Given the description of an element on the screen output the (x, y) to click on. 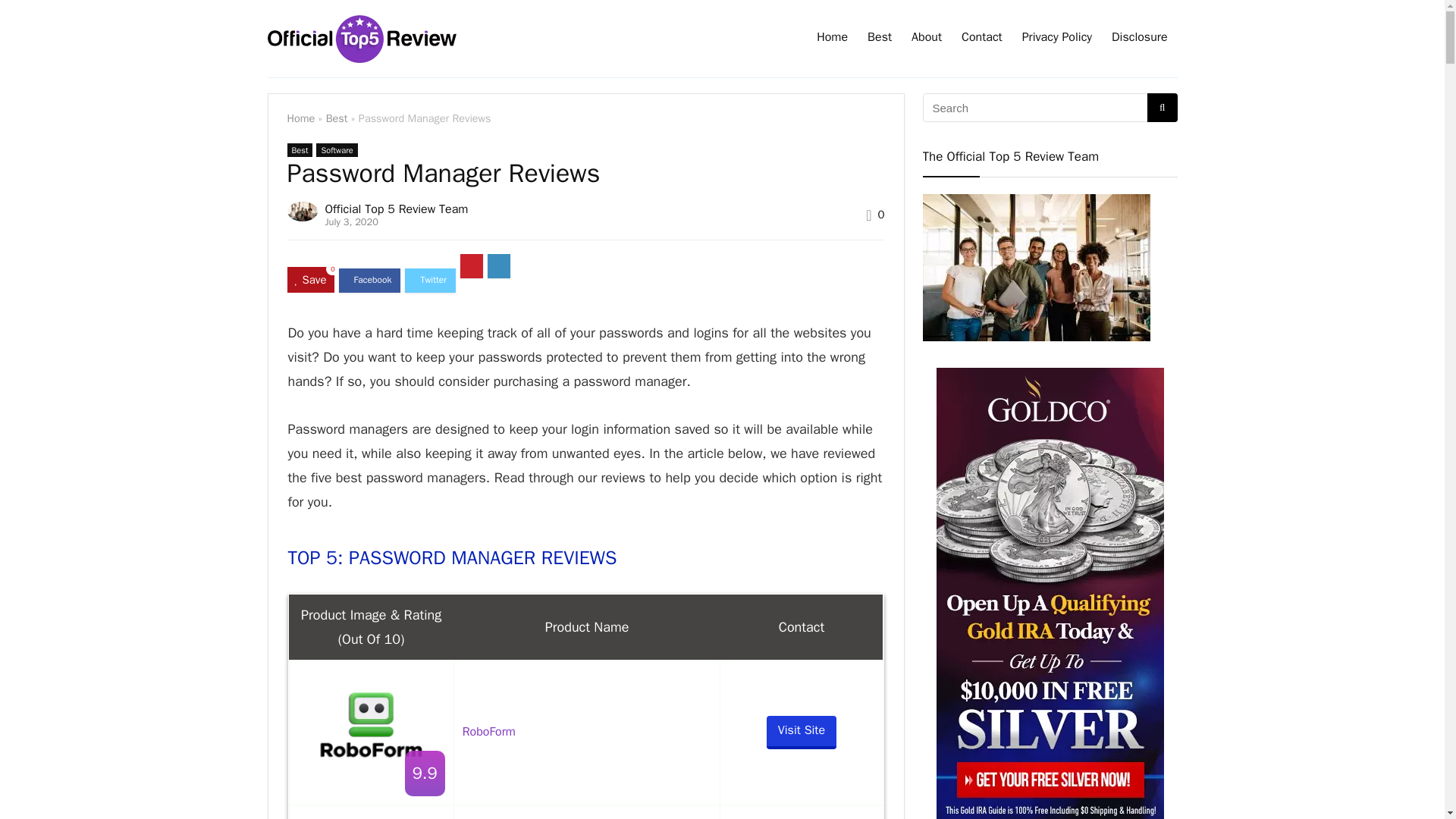
Software (335, 150)
View all posts in Best (299, 150)
Best (879, 38)
View all posts in Software (335, 150)
Best (299, 150)
About (926, 38)
Best (336, 118)
Home (831, 38)
RoboForm (489, 731)
Disclosure (1139, 38)
Contact (981, 38)
RoboForm (371, 725)
Privacy Policy (1056, 38)
Home (300, 118)
Official Top 5 Review Team (395, 209)
